Given the description of an element on the screen output the (x, y) to click on. 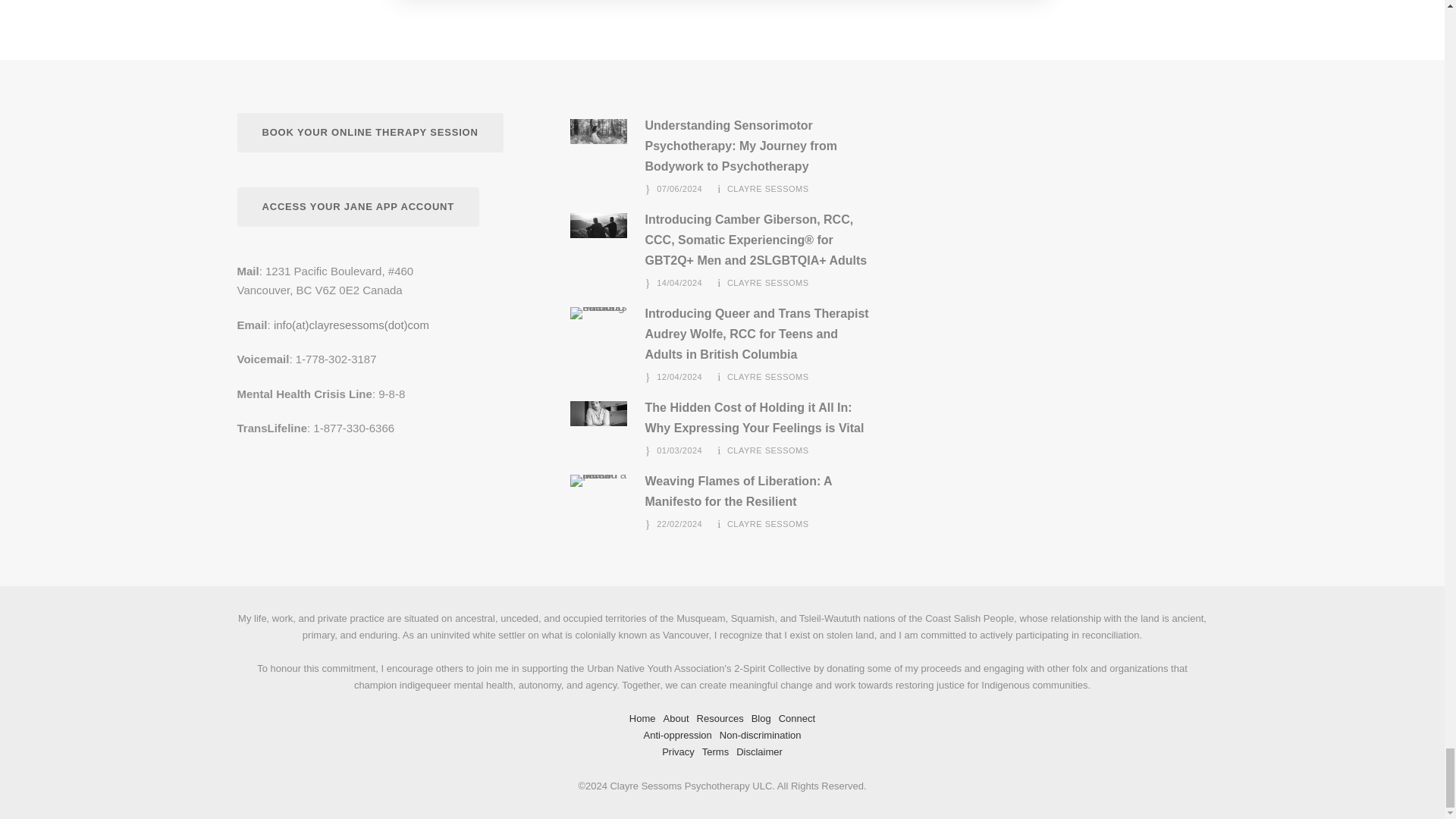
Posts by Clayre Sessoms (767, 376)
Posts by Clayre Sessoms (767, 523)
ACCESS YOUR JANE APP ACCOUNT (357, 207)
Posts by Clayre Sessoms (767, 450)
Posts by Clayre Sessoms (767, 282)
Posts by Clayre Sessoms (767, 188)
BOOK YOUR ONLINE THERAPY SESSION (368, 133)
